Given the description of an element on the screen output the (x, y) to click on. 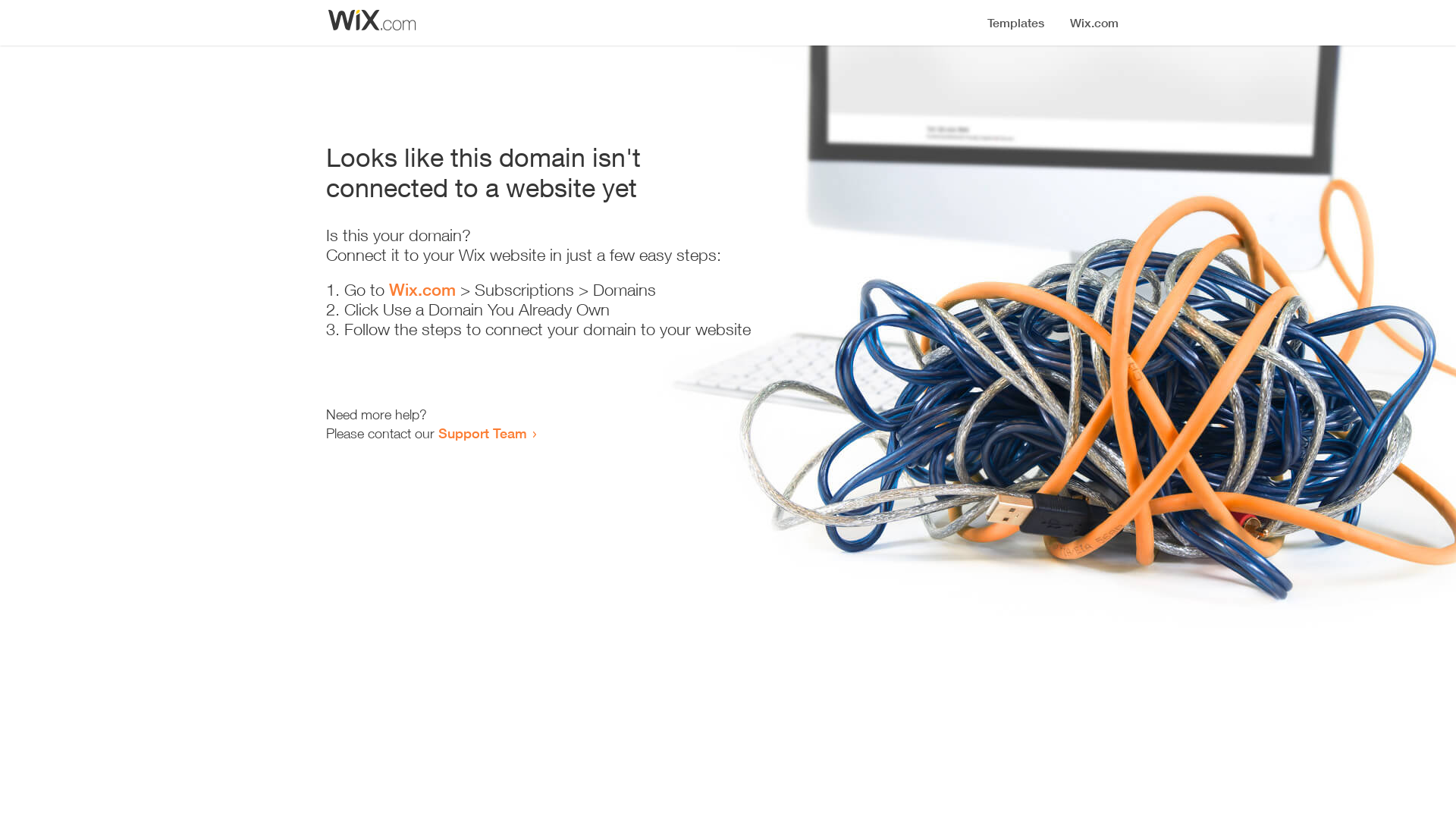
Support Team Element type: text (482, 432)
Wix.com Element type: text (422, 289)
